Given the description of an element on the screen output the (x, y) to click on. 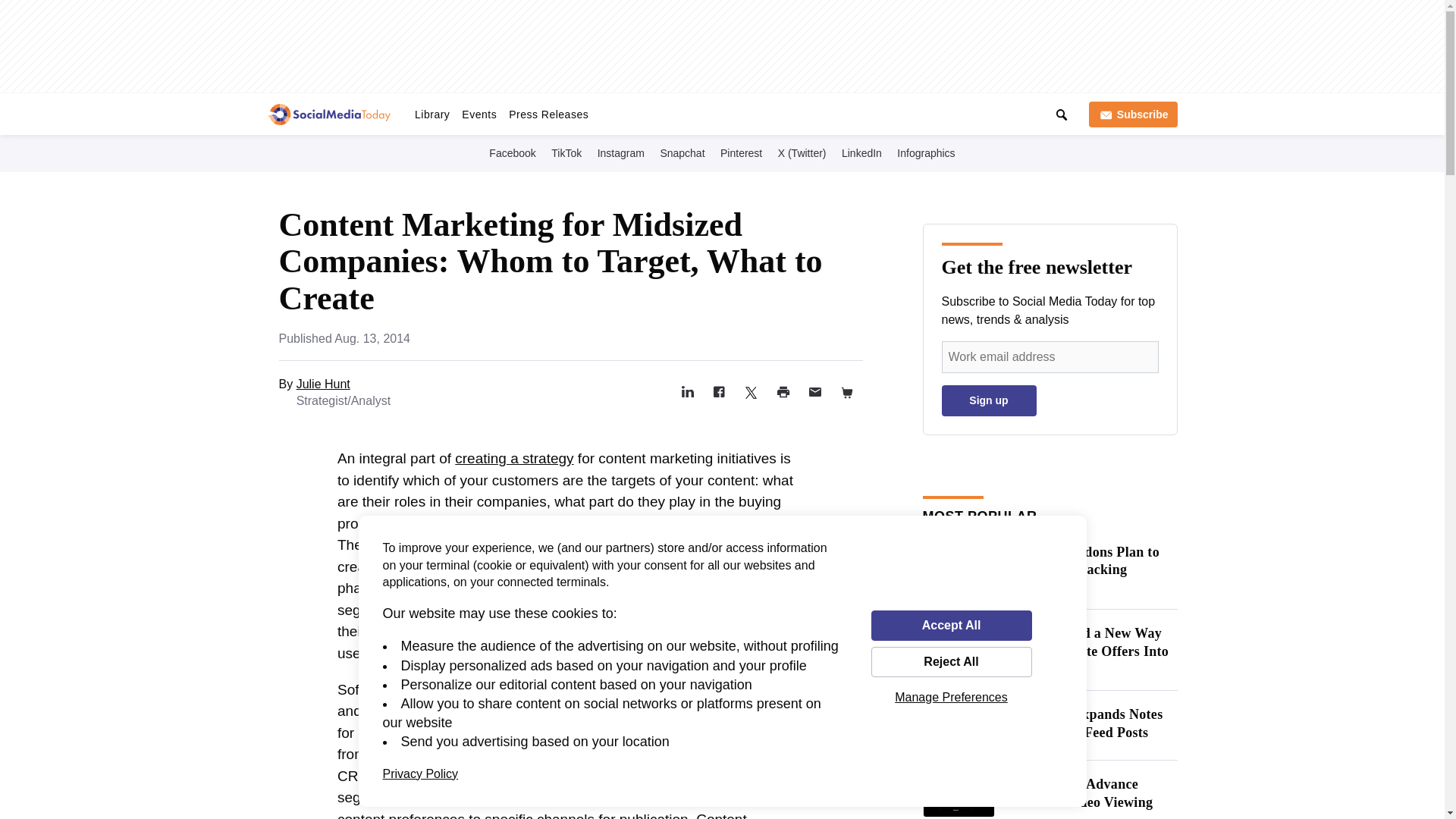
Library (432, 114)
Subscribe (1132, 114)
Instagram (620, 152)
Facebook (512, 152)
TikTok (566, 152)
Manage Preferences (950, 697)
Pinterest (741, 152)
Snapchat (681, 152)
Infographics (925, 152)
Julie Hunt (323, 383)
Events (478, 114)
creating a strategy (513, 458)
LinkedIn (861, 152)
Press Releases (548, 114)
Become a Contributor (806, 110)
